Given the description of an element on the screen output the (x, y) to click on. 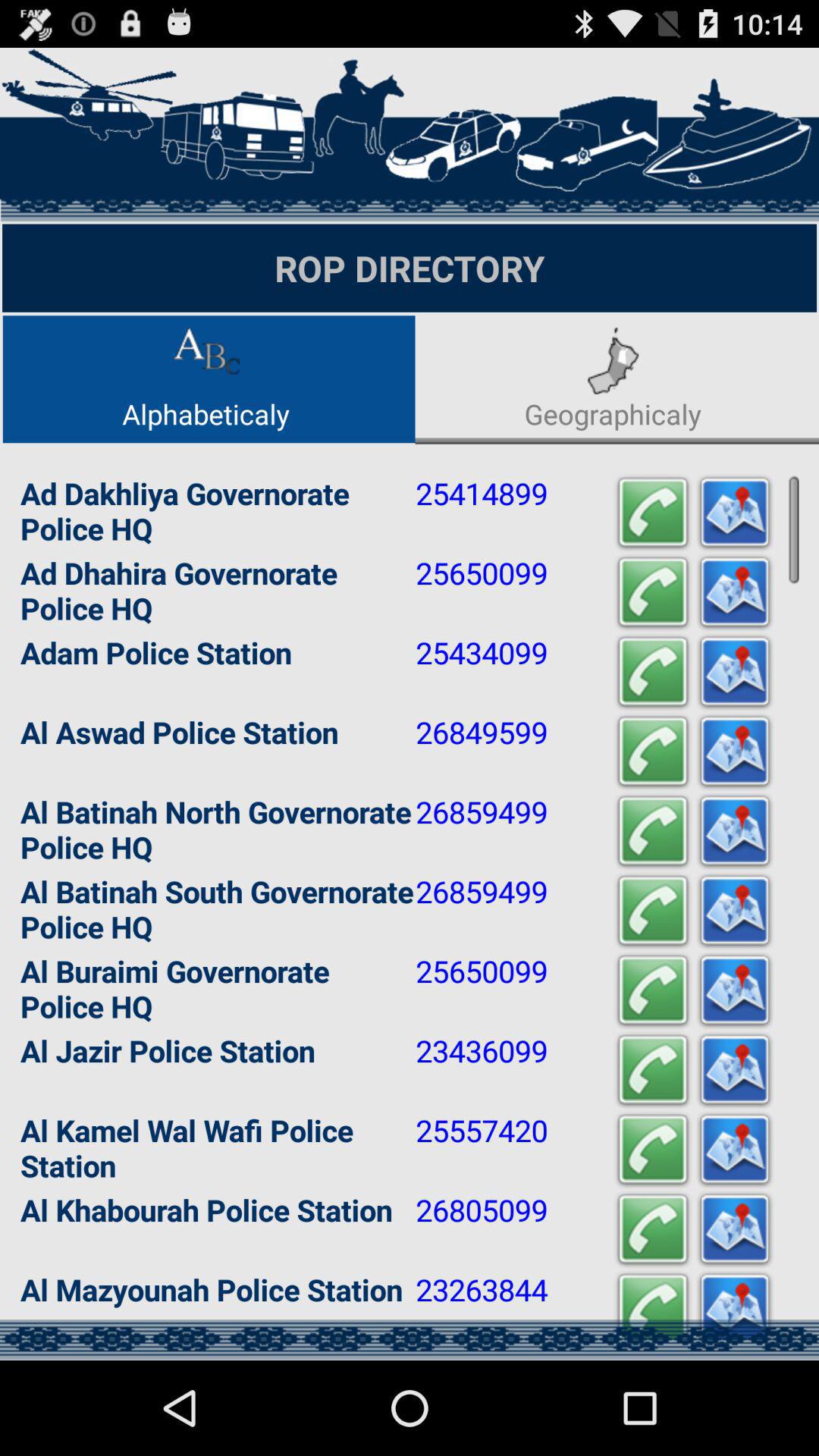
select the bookmark (734, 751)
